Given the description of an element on the screen output the (x, y) to click on. 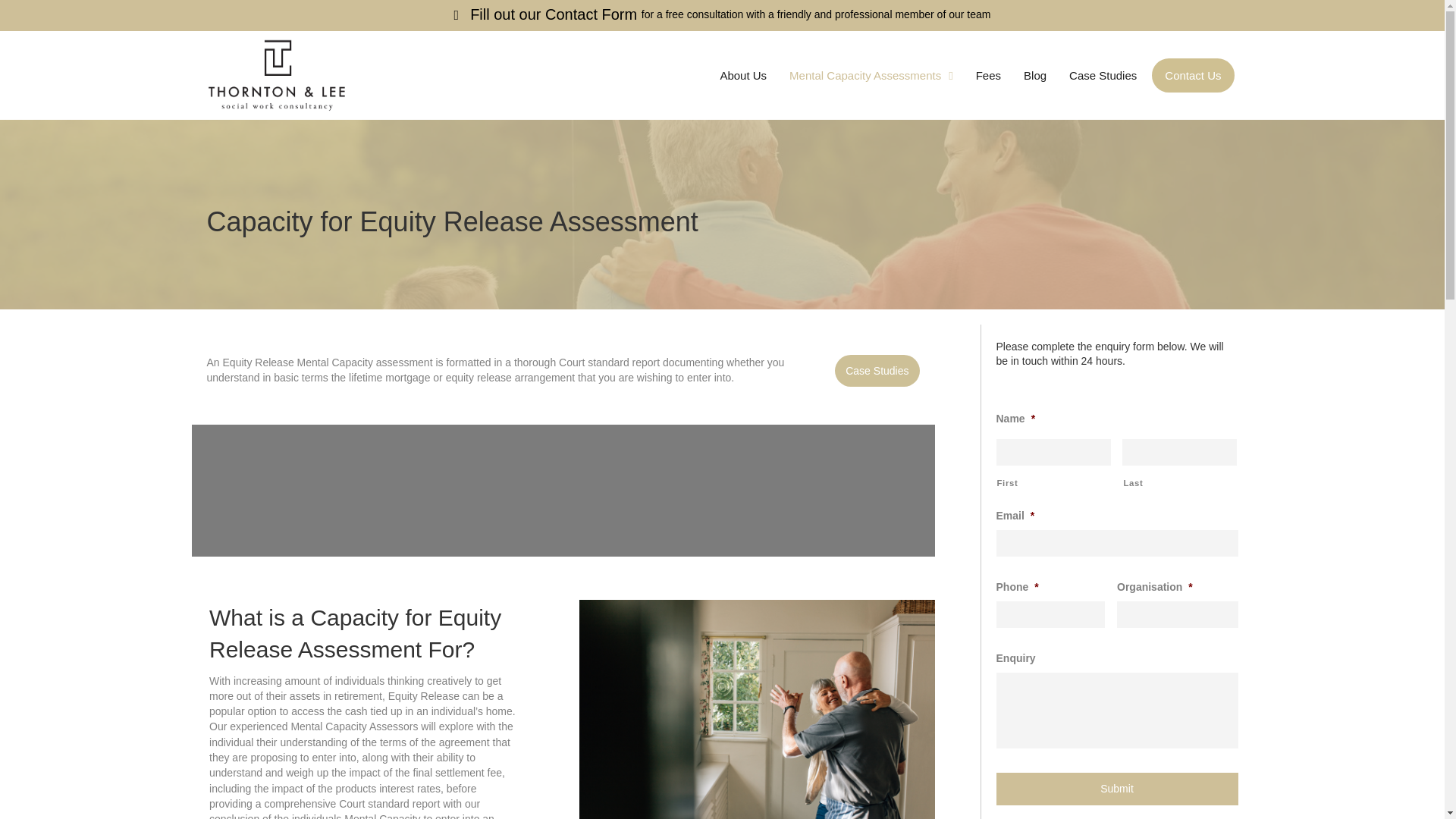
Mental Capacity Assessments (870, 75)
Submit (1117, 789)
Submit (1117, 789)
Blog (1035, 75)
About Us (742, 75)
Fees (988, 75)
Contact Us (1192, 75)
Case Studies (876, 370)
Case Studies (1102, 75)
